Given the description of an element on the screen output the (x, y) to click on. 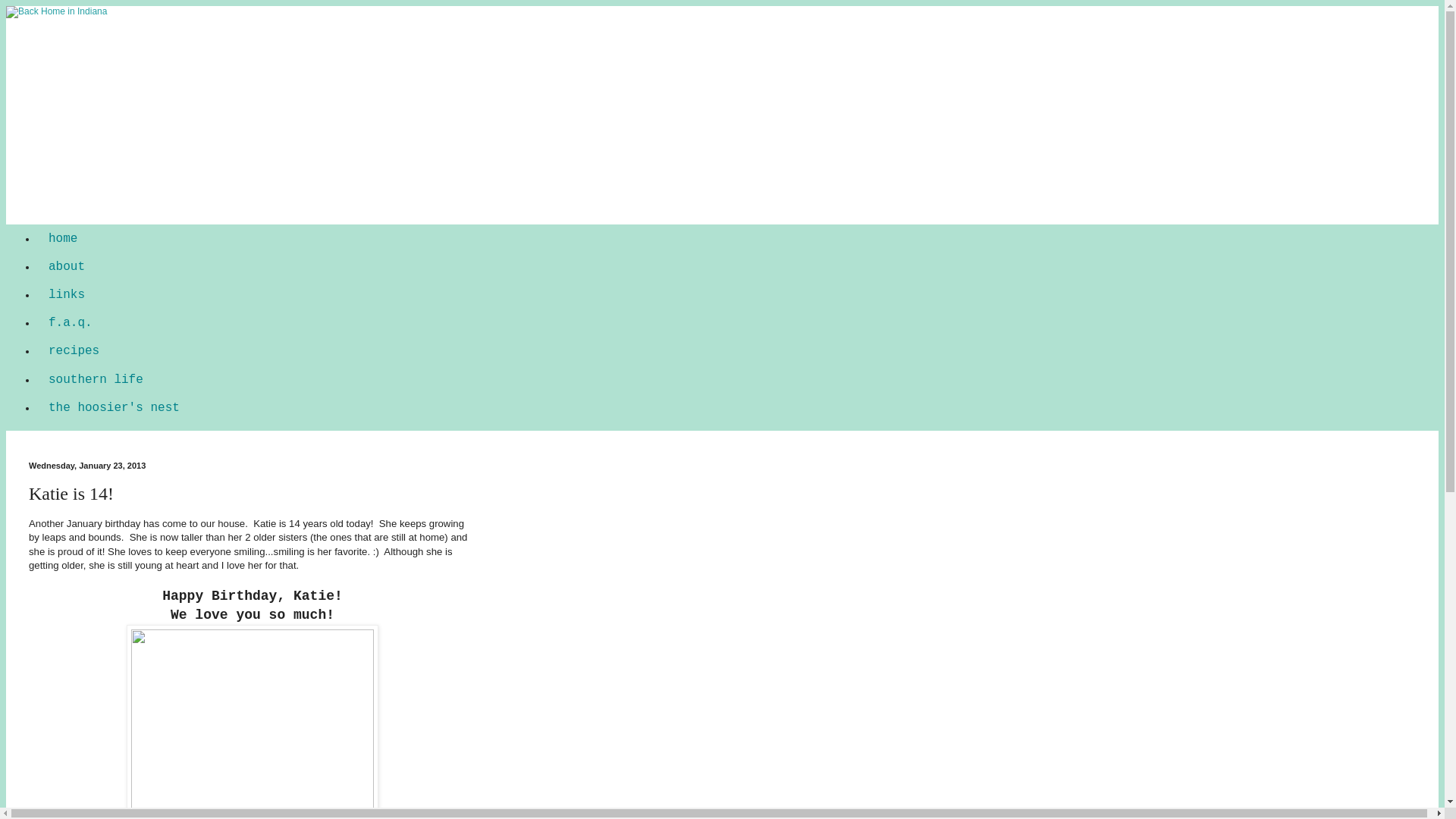
about (66, 266)
southern life (95, 379)
links (66, 294)
f.a.q. (70, 323)
the hoosier's nest (114, 407)
home (62, 238)
recipes (74, 351)
